Given the description of an element on the screen output the (x, y) to click on. 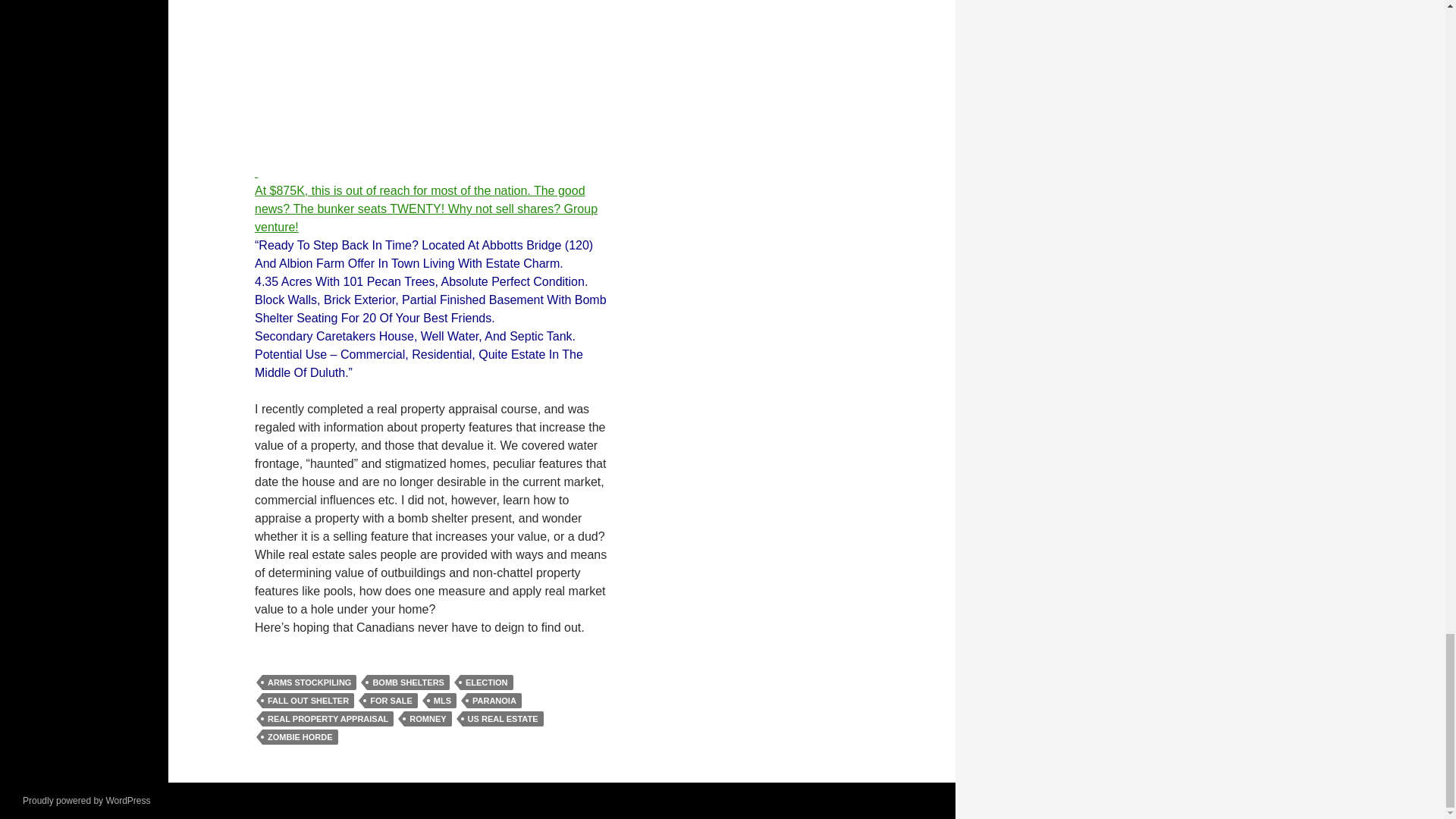
ZOMBIE HORDE (299, 736)
ELECTION (486, 682)
PARANOIA (494, 700)
BOMB SHELTERS (407, 682)
ROMNEY (427, 718)
REAL PROPERTY APPRAISAL (327, 718)
FALL OUT SHELTER (307, 700)
FOR SALE (391, 700)
MLS (442, 700)
Proudly powered by WordPress (87, 800)
